Given the description of an element on the screen output the (x, y) to click on. 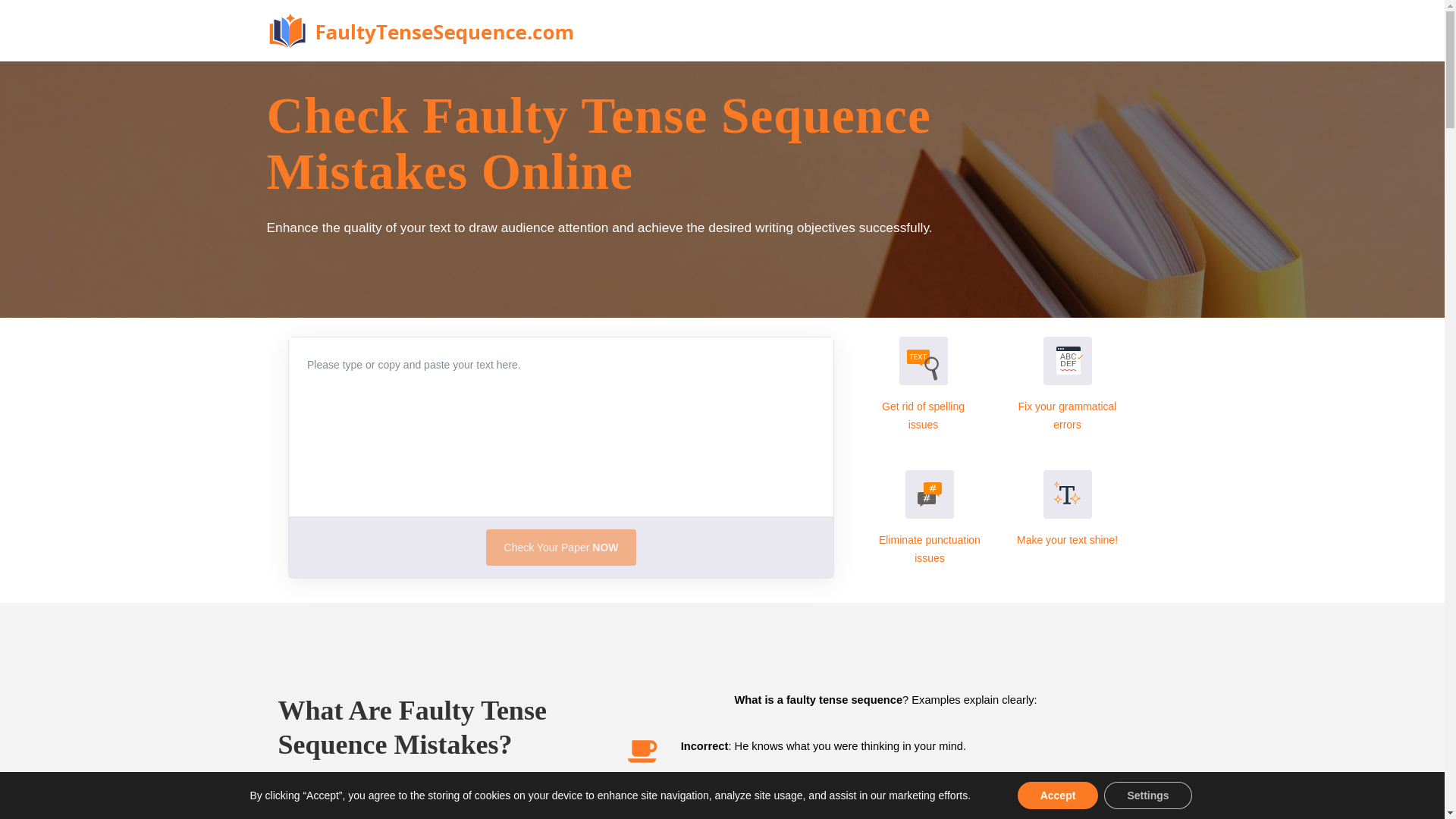
Check Your Paper NOW (561, 547)
Settings (1147, 795)
Accept (1058, 795)
